Given the description of an element on the screen output the (x, y) to click on. 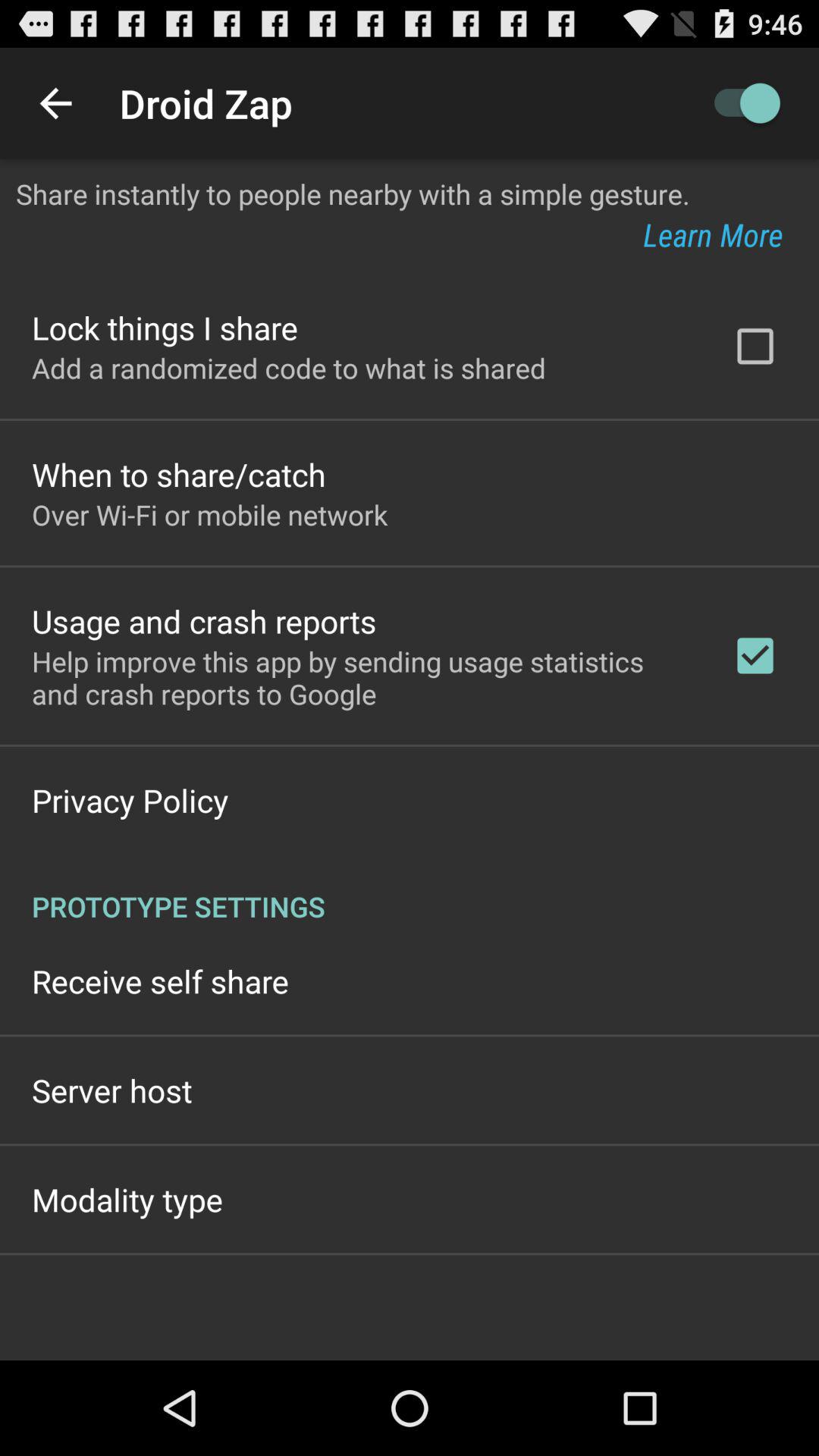
turn on app to the left of droid zap (55, 103)
